Given the description of an element on the screen output the (x, y) to click on. 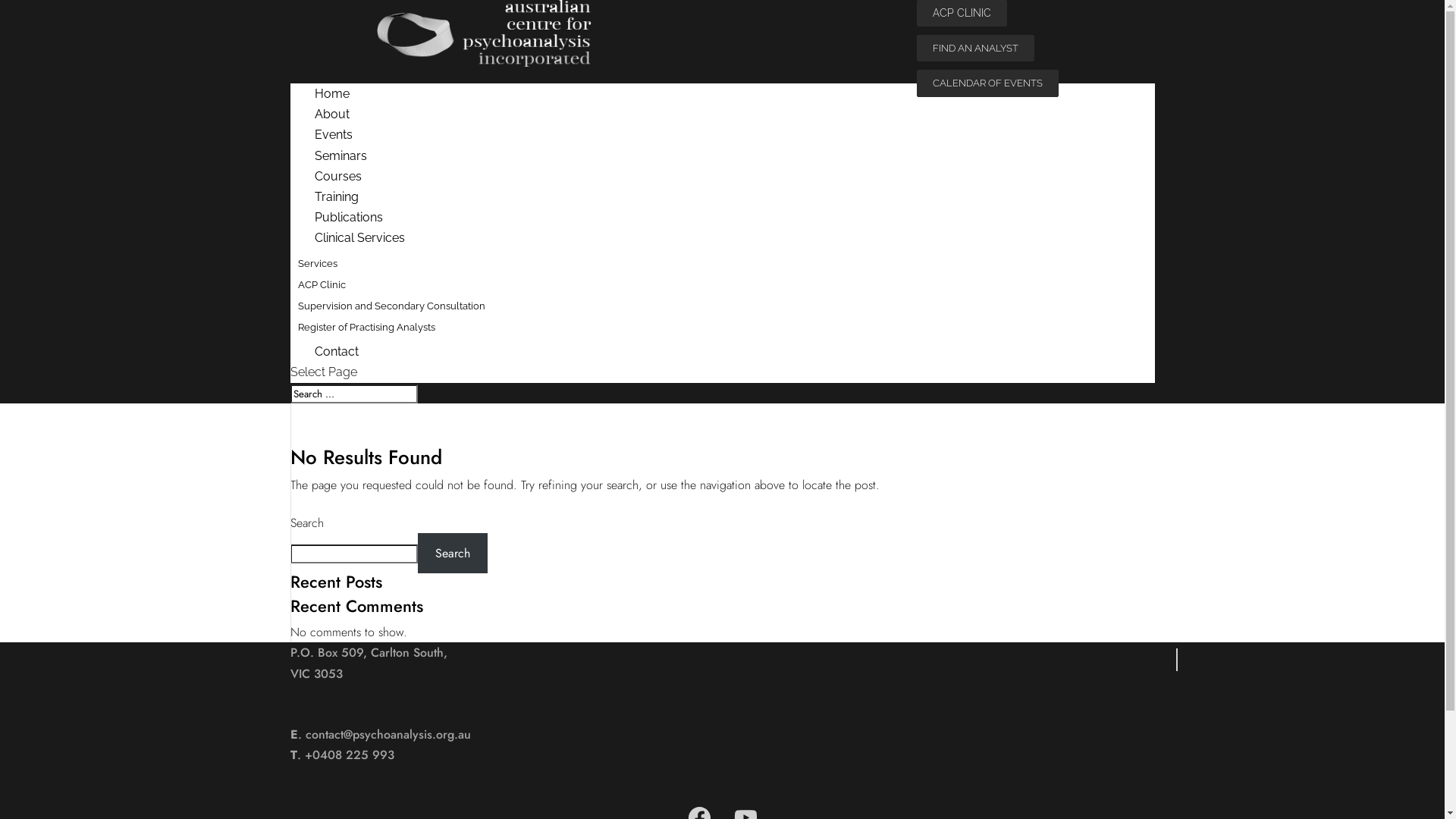
ACP CLINIC Element type: text (961, 13)
Courses Element type: text (337, 176)
Home Element type: text (331, 93)
Training Element type: text (335, 196)
About Element type: text (331, 113)
Search Element type: text (452, 553)
ACP Clinic Element type: text (321, 284)
Services Element type: text (317, 262)
Contact Element type: text (335, 351)
CALENDAR OF EVENTS Element type: text (986, 82)
Clinical Services Element type: text (359, 237)
contact@psychoanalysis.org.au Element type: text (387, 734)
Search for: Element type: hover (353, 393)
Events Element type: text (332, 134)
Publications Element type: text (348, 216)
Seminars Element type: text (340, 155)
Supervision and Secondary Consultation Element type: text (391, 305)
Register of Practising Analysts Element type: text (366, 326)
+0408 225 993 Element type: text (349, 754)
FIND AN ANALYST Element type: text (974, 47)
